Given the description of an element on the screen output the (x, y) to click on. 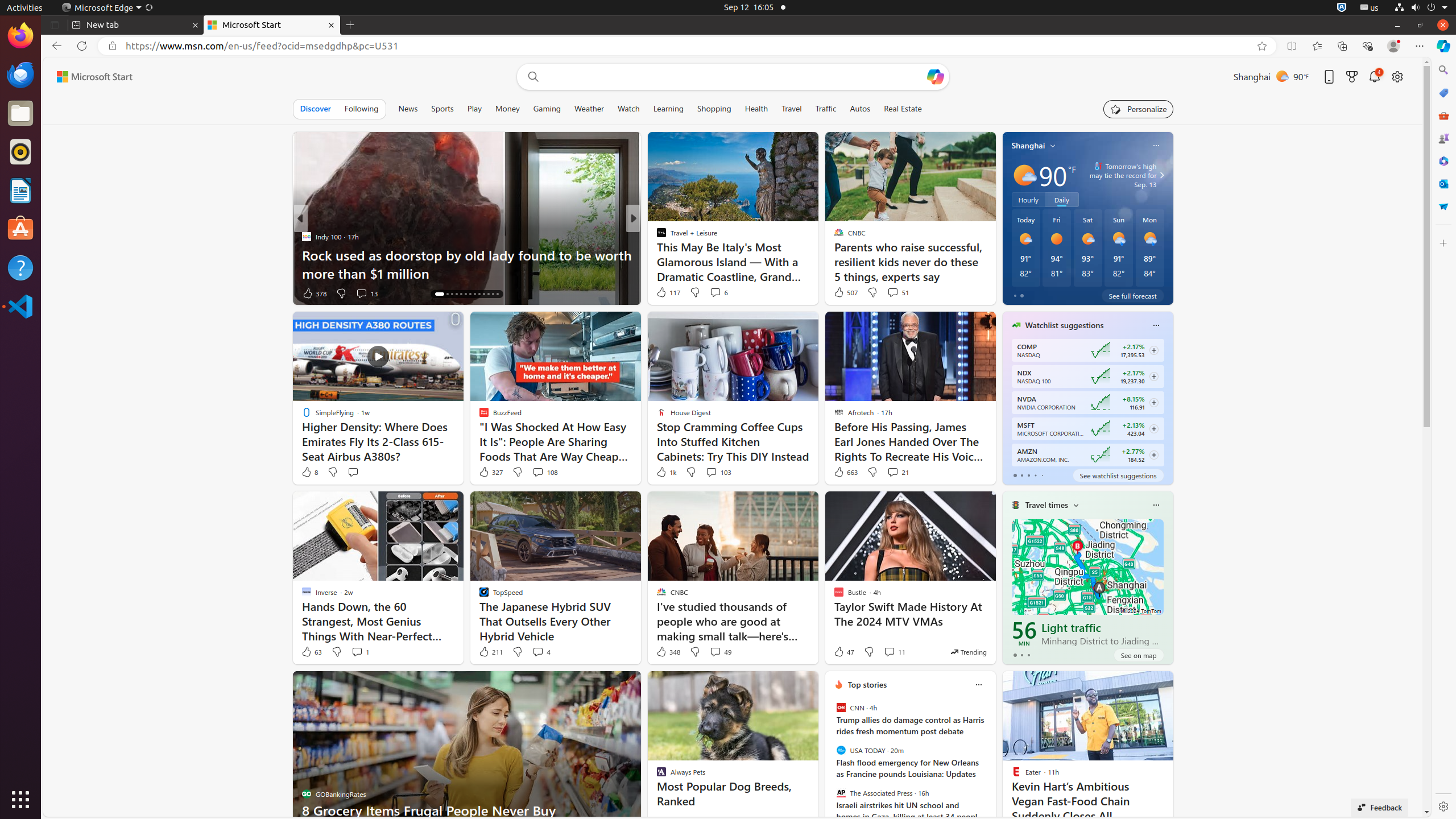
View comments 11 Comment Element type: link (894, 651)
View comments 11 Comment Element type: push-button (889, 651)
Travel times Element type: link (1046, 504)
Customize Element type: push-button (1443, 243)
Experience Unbelievable Luxury on These 5 Commercial Airlines Element type: link (816, 263)
